Given the description of an element on the screen output the (x, y) to click on. 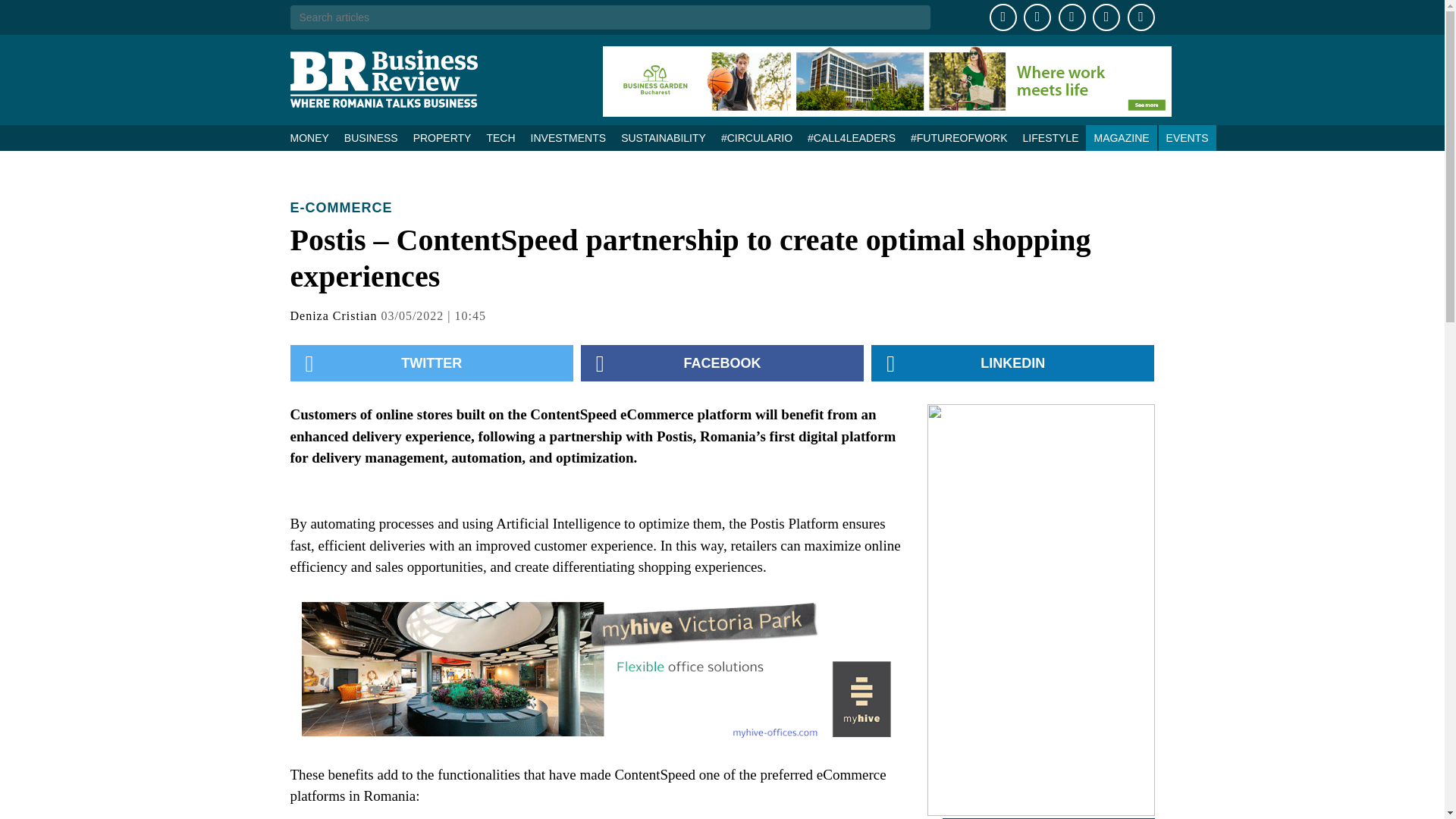
LIFESTYLE (1050, 137)
MONEY (312, 137)
TECH (500, 137)
PROPERTY (442, 137)
TWITTER (430, 362)
MAGAZINE (1121, 137)
INVESTMENTS (568, 137)
LINKEDIN (1012, 362)
Deniza Cristian (333, 315)
BUSINESS (371, 137)
